Given the description of an element on the screen output the (x, y) to click on. 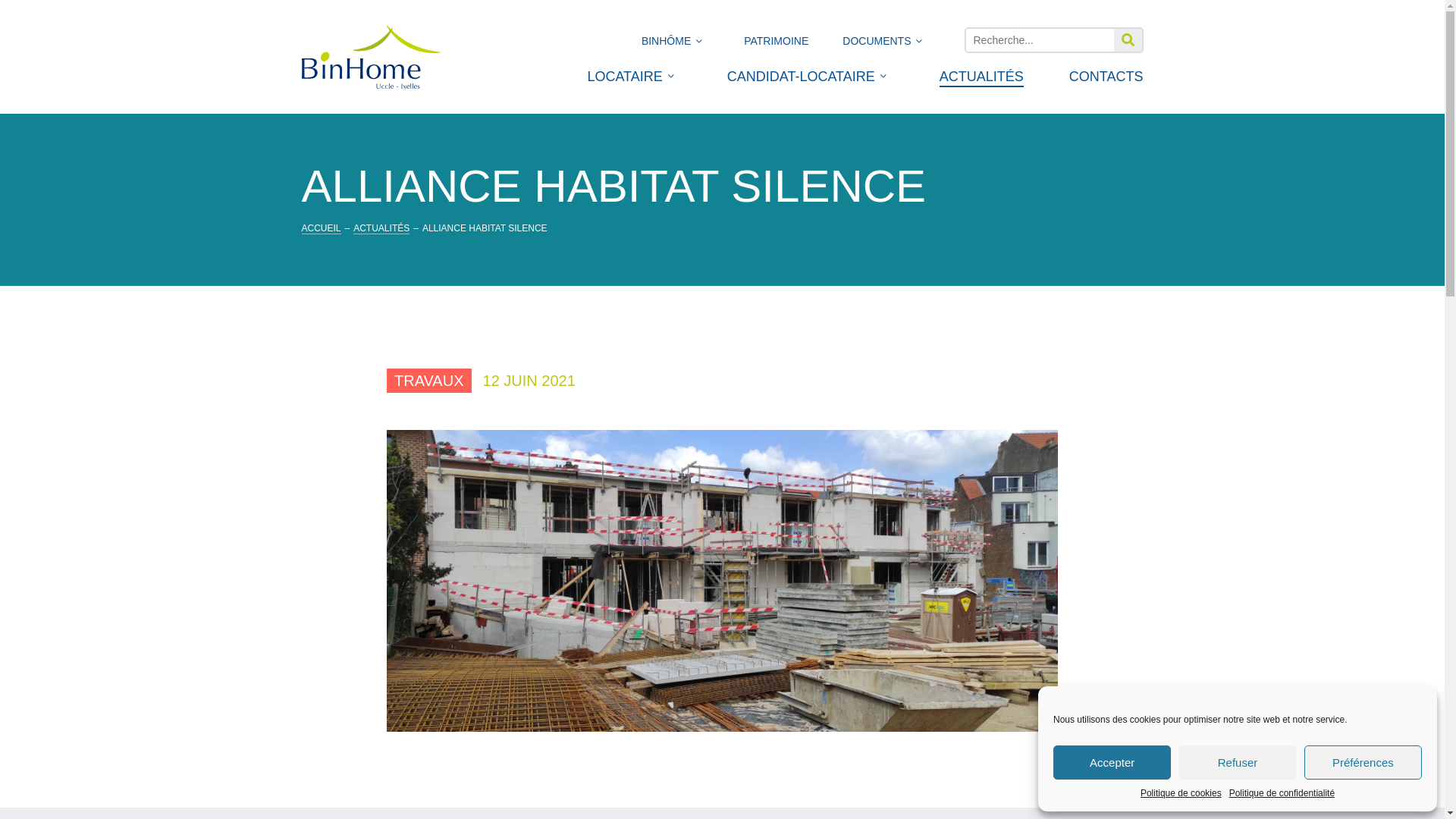
Accepter Element type: text (1111, 762)
CONTACTS Element type: text (1106, 82)
PATRIMOINE Element type: text (775, 44)
Refuser Element type: text (1236, 762)
LOCATAIRE Element type: text (624, 82)
TRAVAUX Element type: text (429, 380)
DOCUMENTS Element type: text (876, 44)
Return to home Element type: hover (370, 56)
ACCUEIL Element type: text (321, 228)
CANDIDAT-LOCATAIRE Element type: text (801, 82)
Politique de cookies Element type: text (1180, 793)
